Given the description of an element on the screen output the (x, y) to click on. 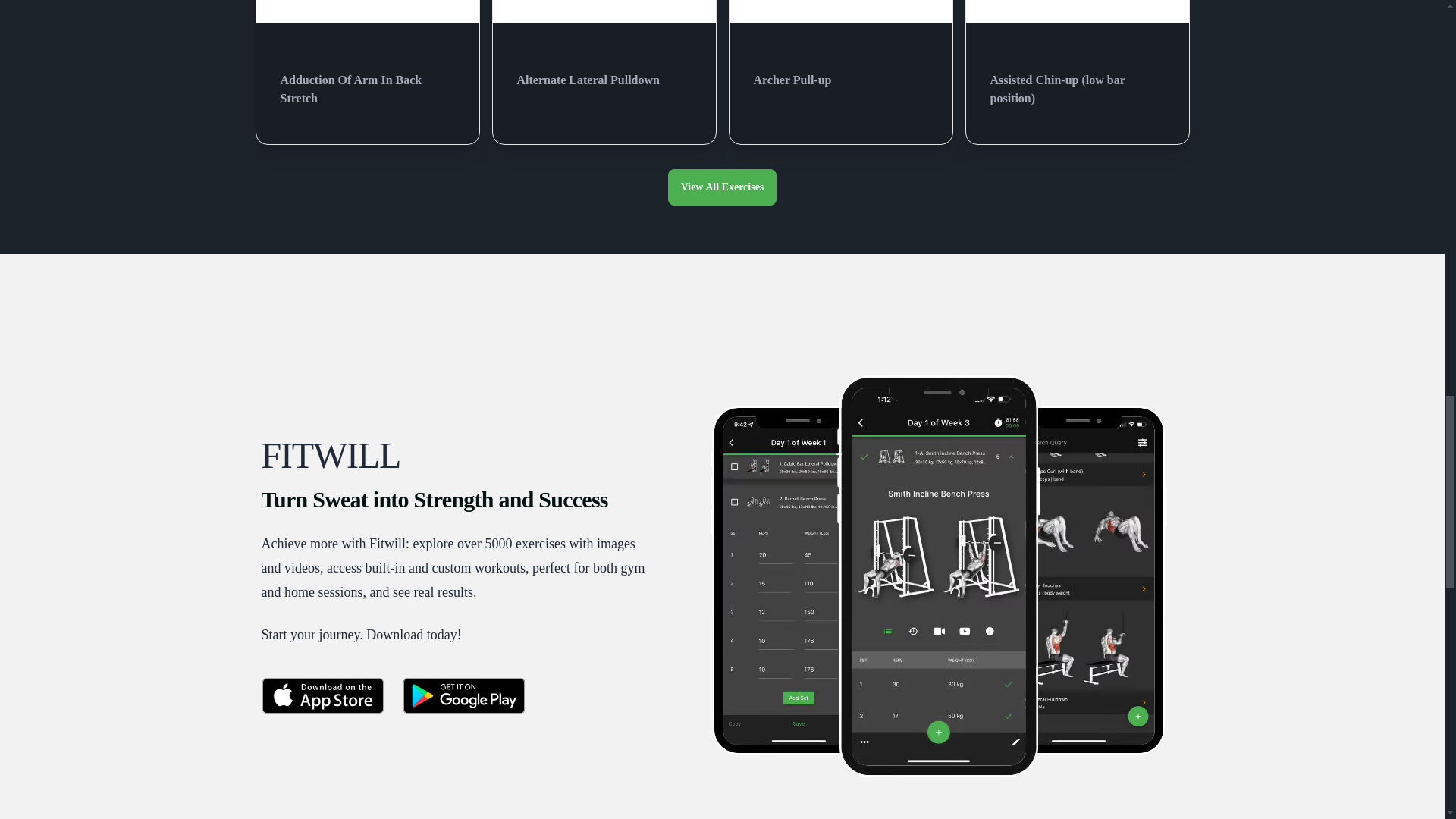
Adduction Of Arm In Back Stretch (367, 82)
View All Exercises (722, 186)
Alternate Lateral Pulldown (603, 73)
Download Fitwill on the App Store (322, 695)
Archer Pull-up (841, 73)
Get Fitwill on Google Play (462, 695)
